Given the description of an element on the screen output the (x, y) to click on. 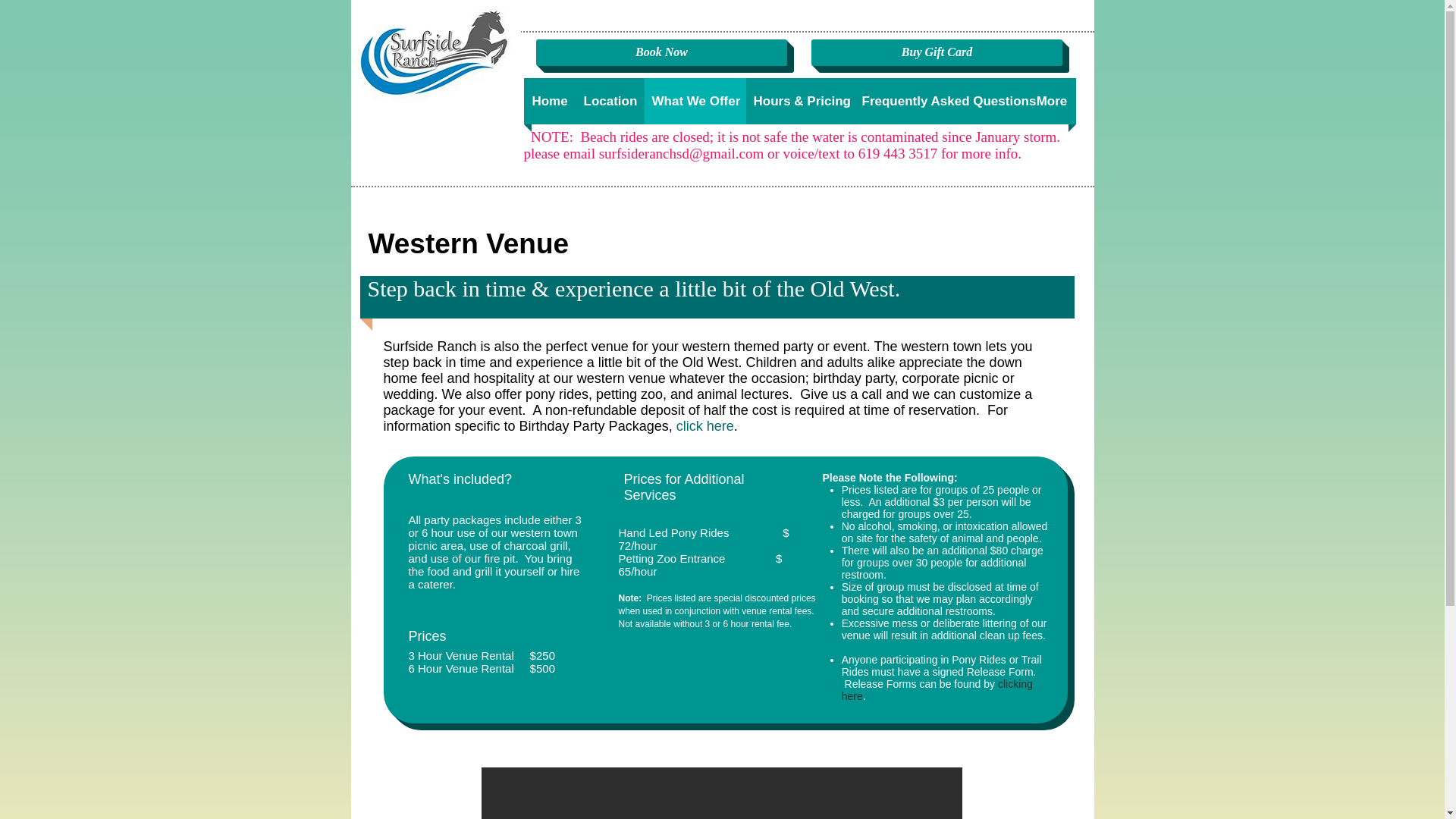
Buy Gift Card (936, 52)
Book Now (661, 52)
click here (705, 426)
Home (548, 100)
What We Offer (695, 100)
Frequently Asked Questions (940, 100)
clicking here (936, 689)
Location (610, 100)
